Given the description of an element on the screen output the (x, y) to click on. 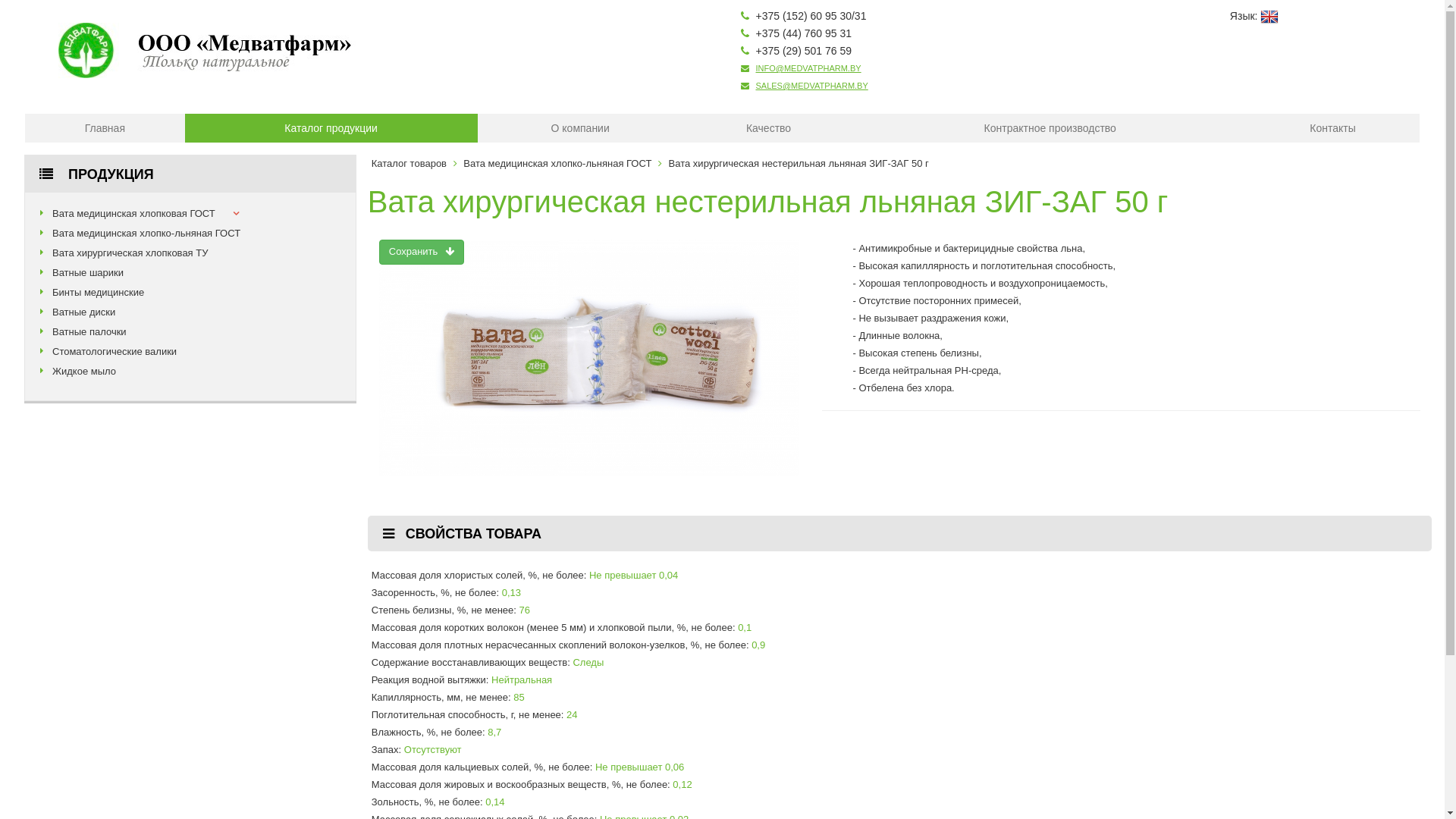
SALES@MEDVATPHARM.BY Element type: text (811, 85)
INFO@MEDVATPHARM.BY Element type: text (807, 67)
English Element type: hover (1269, 15)
